Given the description of an element on the screen output the (x, y) to click on. 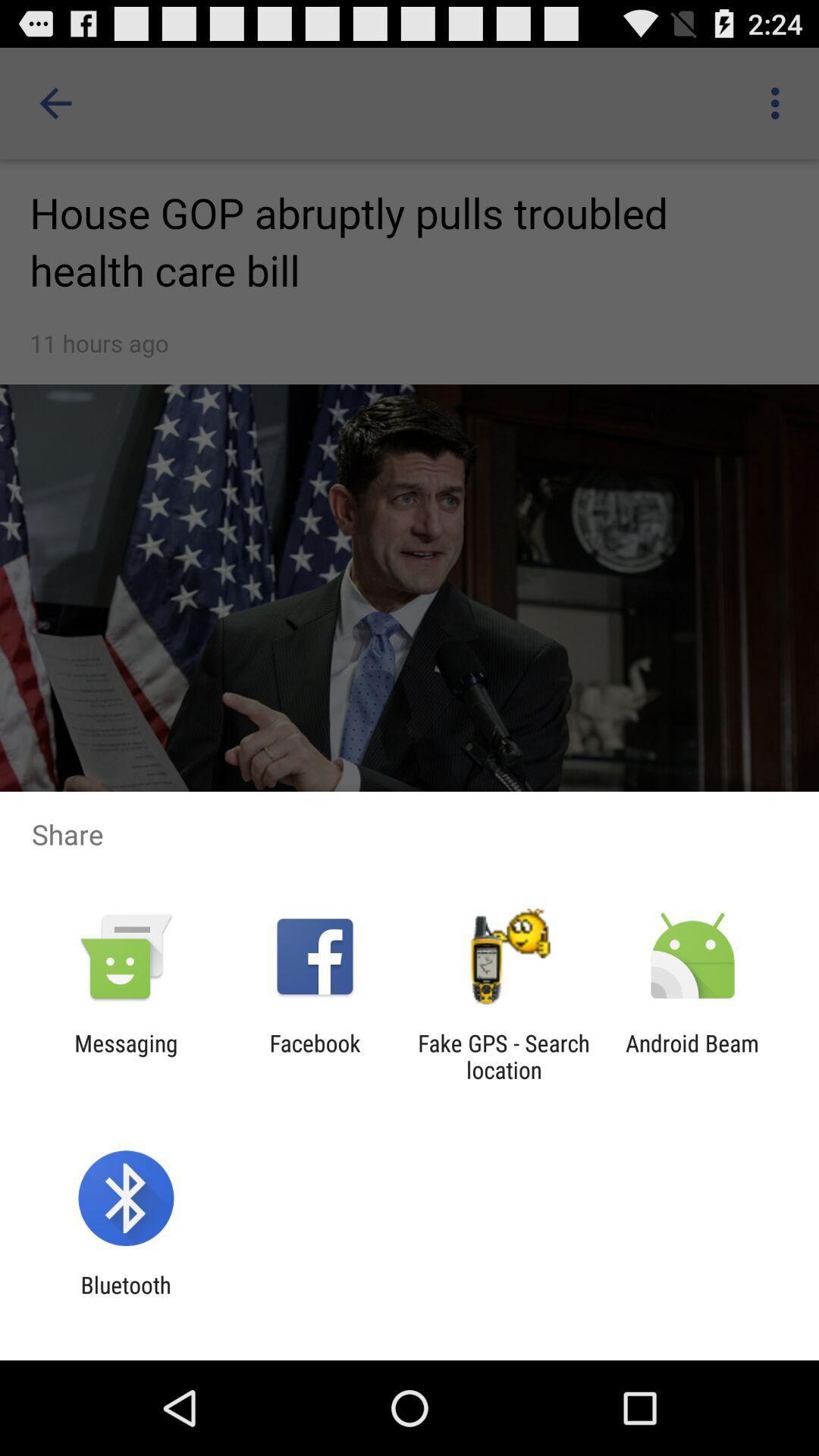
launch the icon next to the fake gps search item (314, 1056)
